Given the description of an element on the screen output the (x, y) to click on. 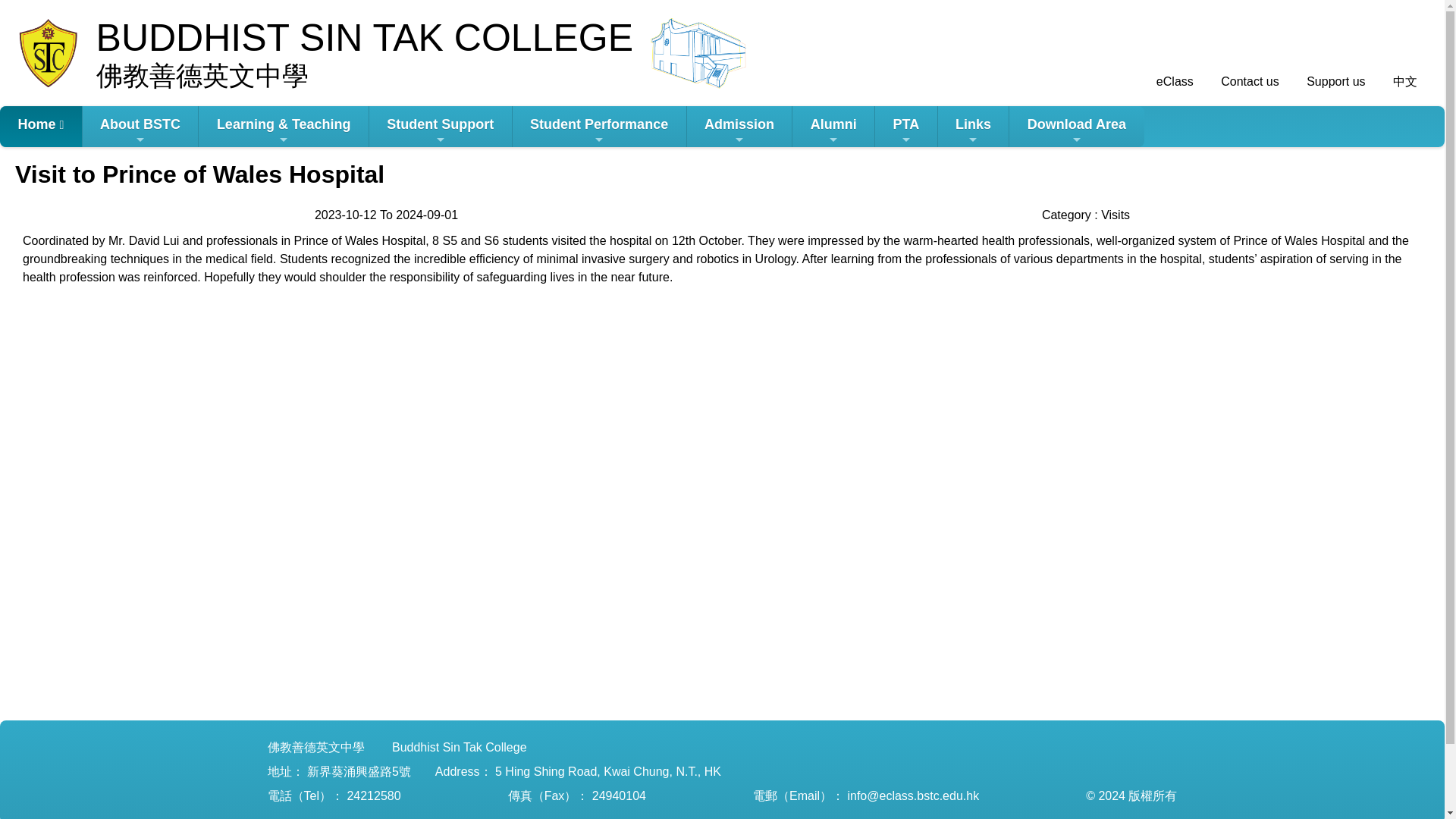
About BSTC (140, 126)
 Support us (1334, 81)
 Contact us (1248, 81)
 eClass (1172, 81)
Home of this website (40, 126)
Home (40, 126)
